Given the description of an element on the screen output the (x, y) to click on. 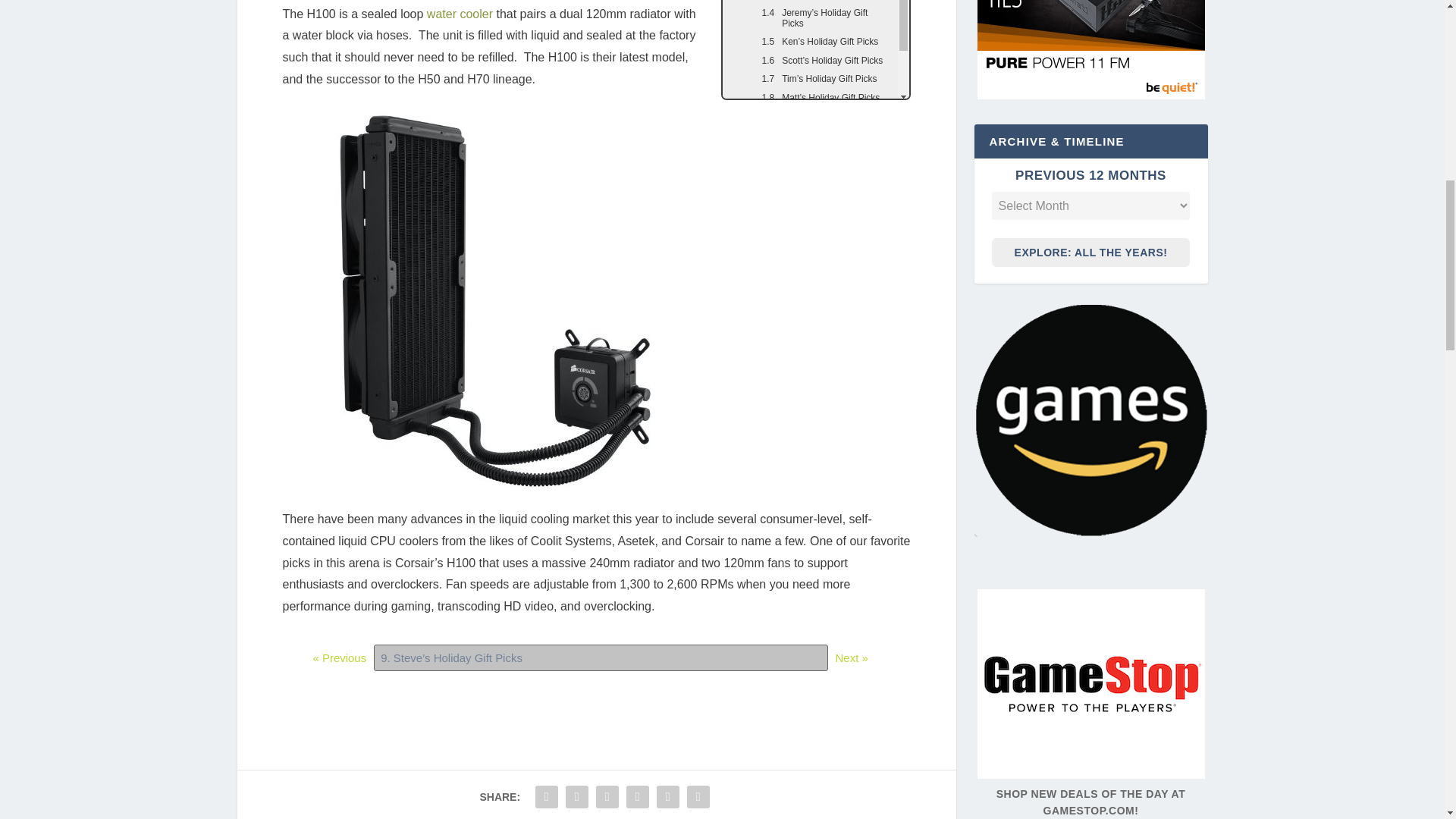
Share "PC Perspective Holiday Gift Guide 2011" via LinkedIn (637, 797)
Share "PC Perspective Holiday Gift Guide 2011" via Tumblr (607, 797)
Share "PC Perspective Holiday Gift Guide 2011" via Print (697, 797)
Share "PC Perspective Holiday Gift Guide 2011" via Facebook (546, 797)
Share "PC Perspective Holiday Gift Guide 2011" via Twitter (577, 797)
Share "PC Perspective Holiday Gift Guide 2011" via Email (667, 797)
